Given the description of an element on the screen output the (x, y) to click on. 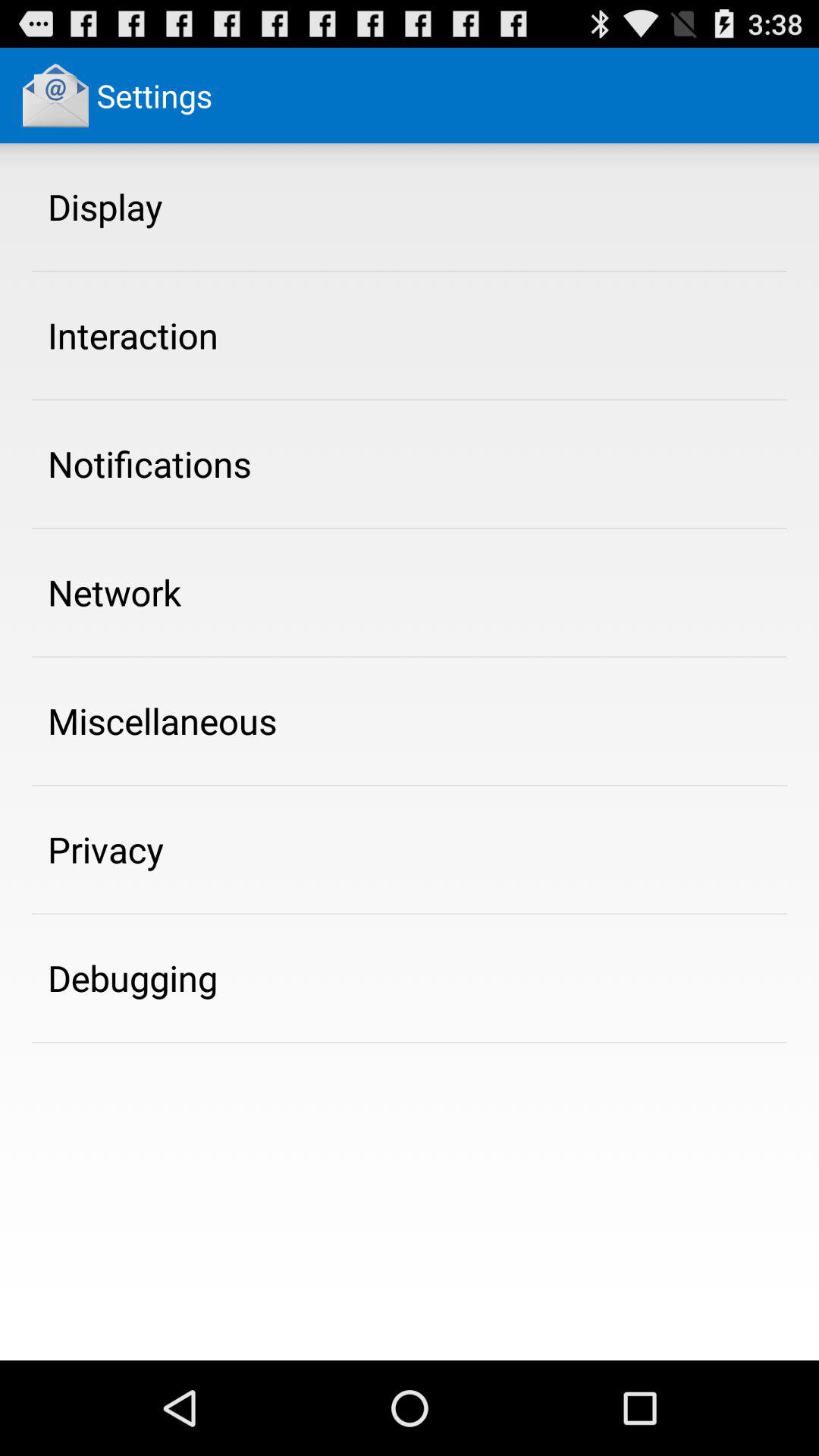
tap network item (114, 592)
